Given the description of an element on the screen output the (x, y) to click on. 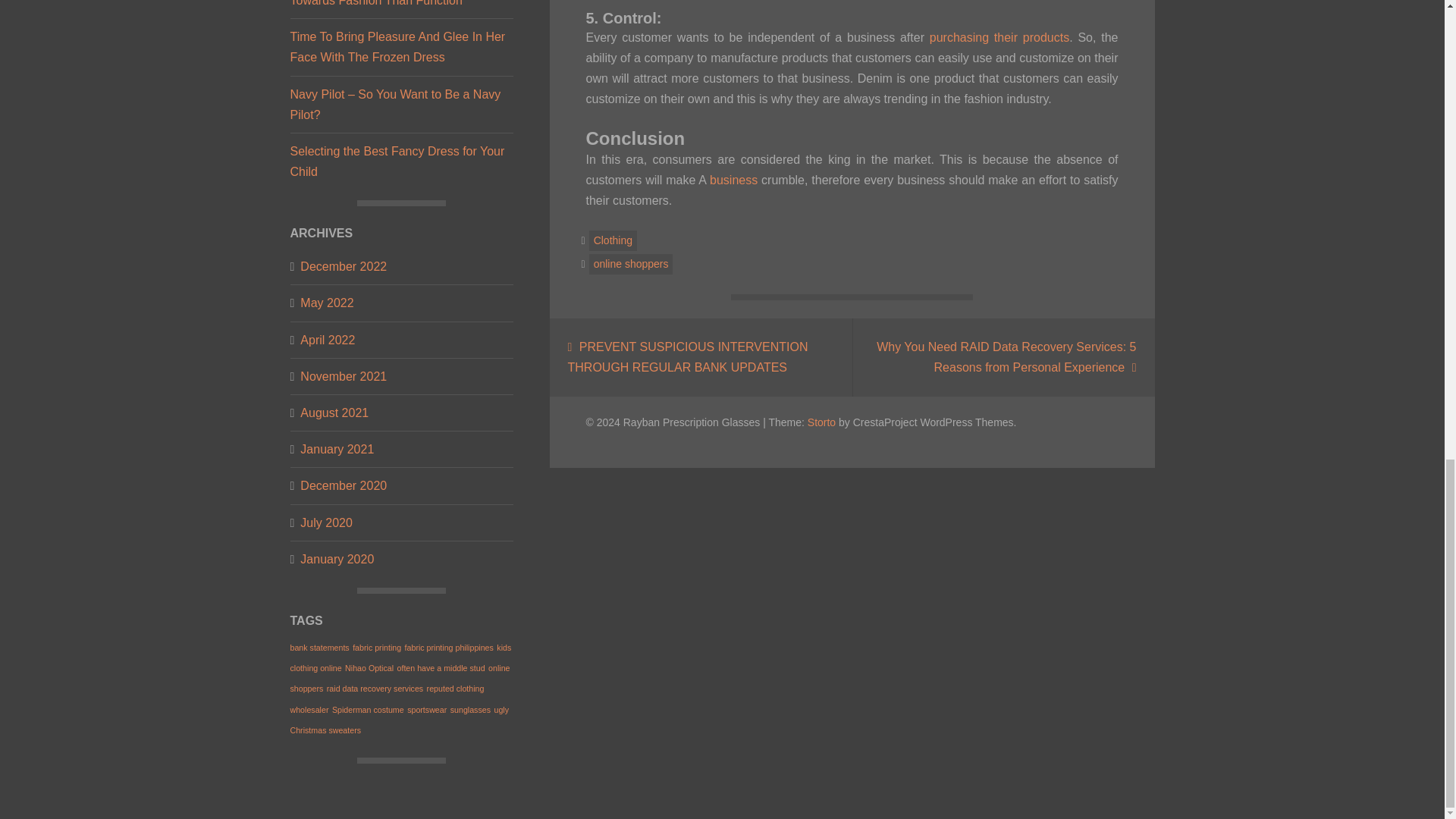
January 2021 (336, 448)
fabric printing (376, 646)
Storto Theme (821, 421)
bank statements (319, 646)
August 2021 (333, 412)
December 2022 (343, 266)
November 2021 (343, 376)
May 2022 (326, 302)
January 2020 (336, 558)
December 2020 (343, 485)
July 2020 (325, 522)
Selecting the Best Fancy Dress for Your Child (396, 161)
April 2022 (327, 340)
